Given the description of an element on the screen output the (x, y) to click on. 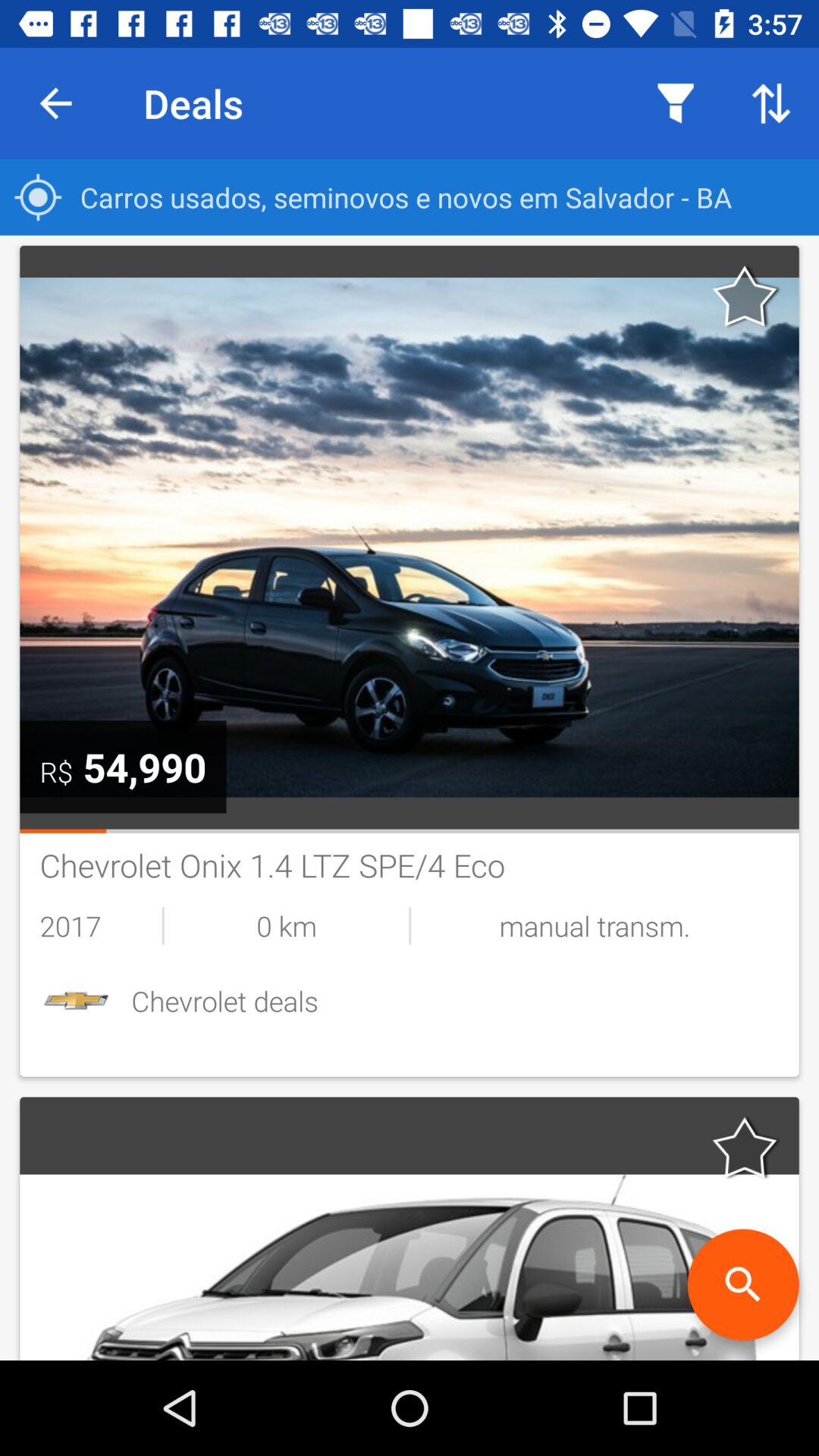
tap the icon above the carros usados seminovos icon (771, 103)
